Given the description of an element on the screen output the (x, y) to click on. 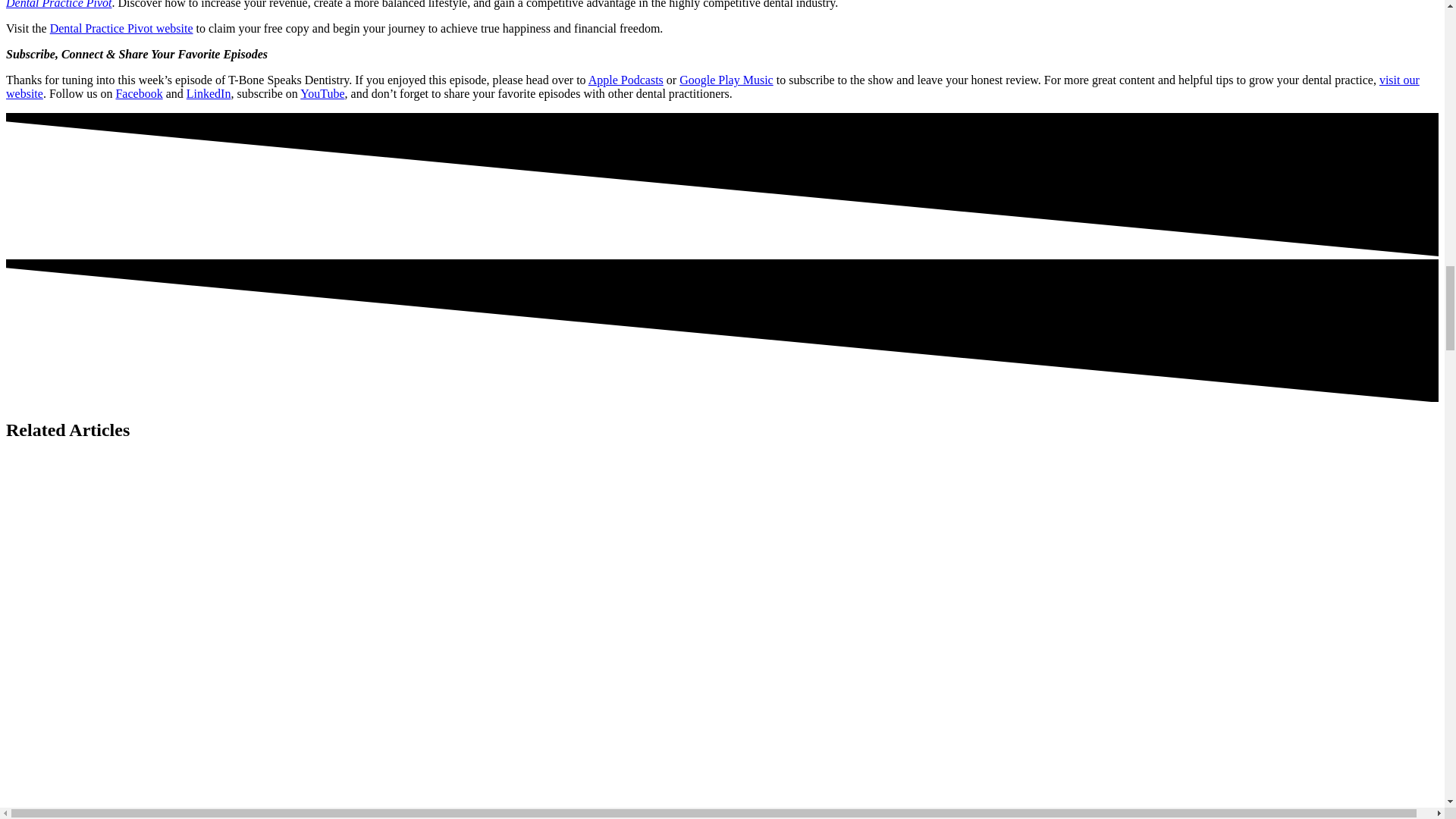
Apple Podcasts (625, 79)
visit our website (712, 86)
LinkedIn (208, 92)
Google Play Music (726, 79)
Facebook (138, 92)
YouTube (321, 92)
Dental Practice Pivot website (121, 28)
